Given the description of an element on the screen output the (x, y) to click on. 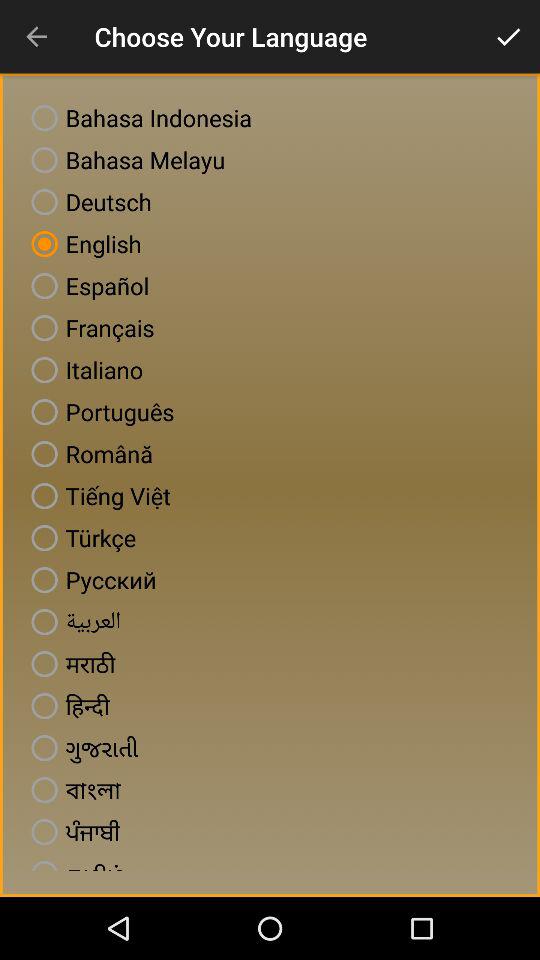
launch icon to the left of the choose your language icon (36, 36)
